Given the description of an element on the screen output the (x, y) to click on. 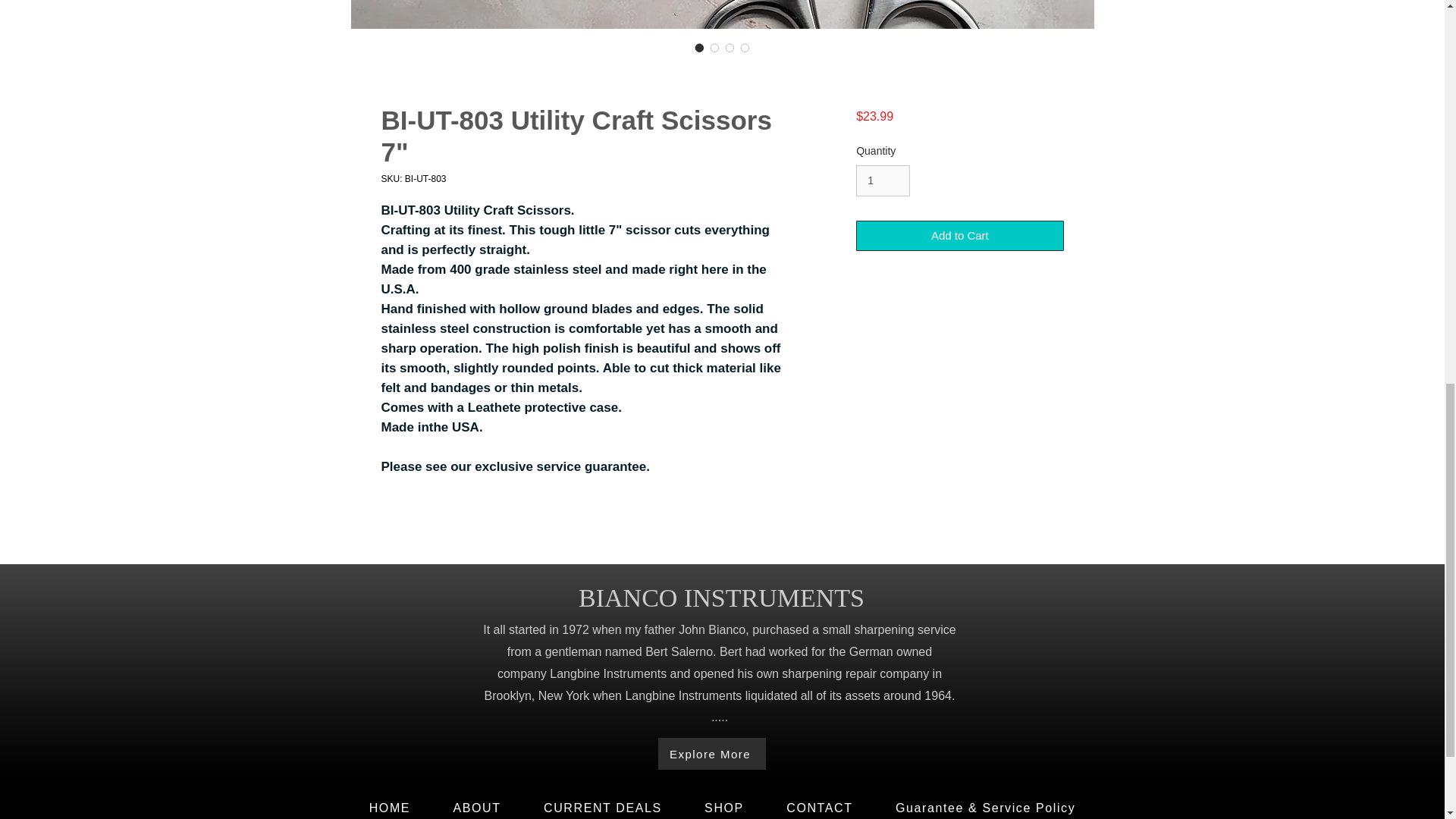
1 (883, 180)
